Given the description of an element on the screen output the (x, y) to click on. 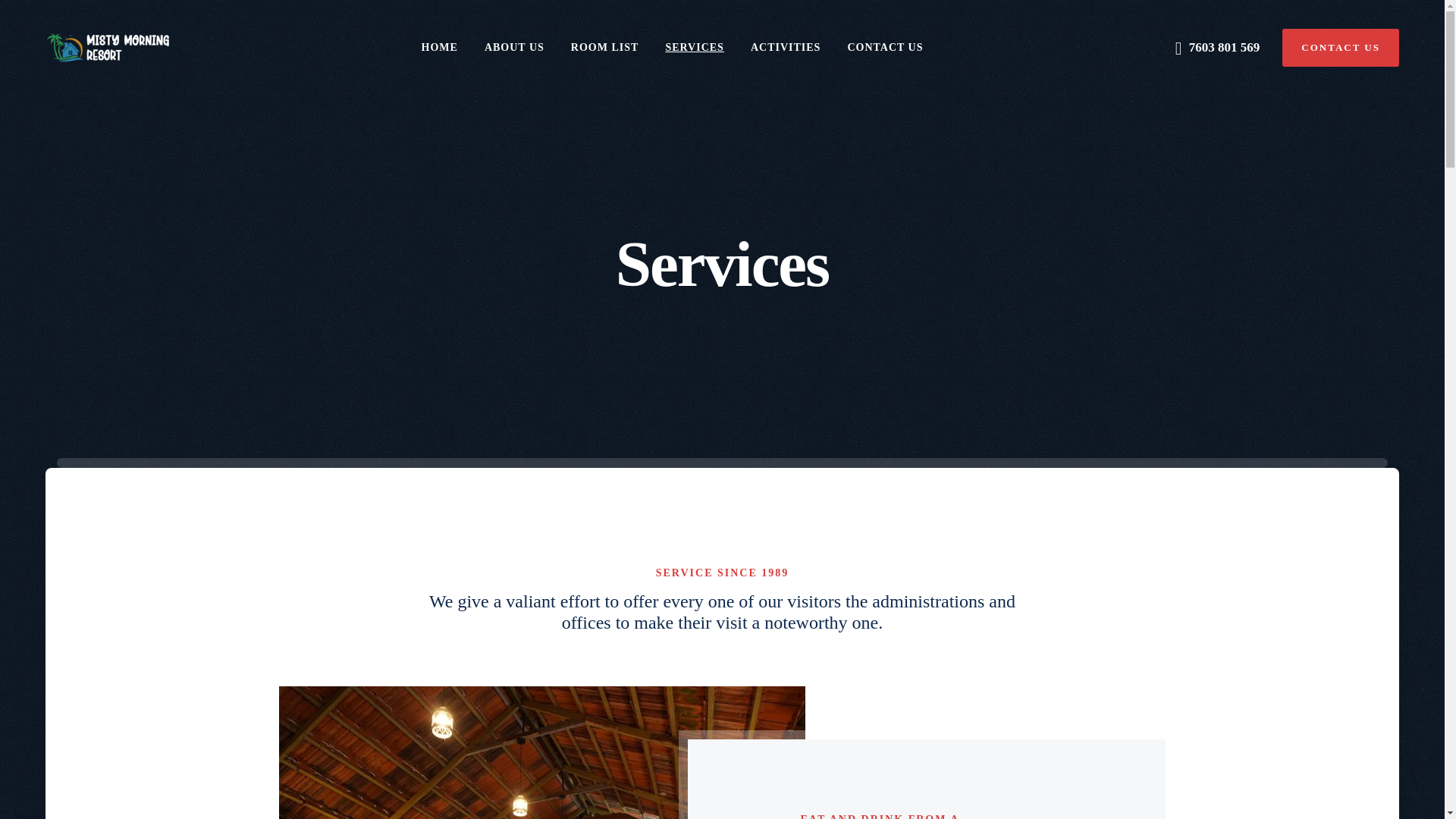
Misty Morning Resort (106, 46)
About Us (514, 46)
ACTIVITIES (786, 46)
Contact Us (885, 46)
ROOM LIST (604, 46)
Room List (604, 46)
Activities (786, 46)
Home (440, 46)
CONTACT US (1340, 47)
CONTACT US (885, 46)
